Given the description of an element on the screen output the (x, y) to click on. 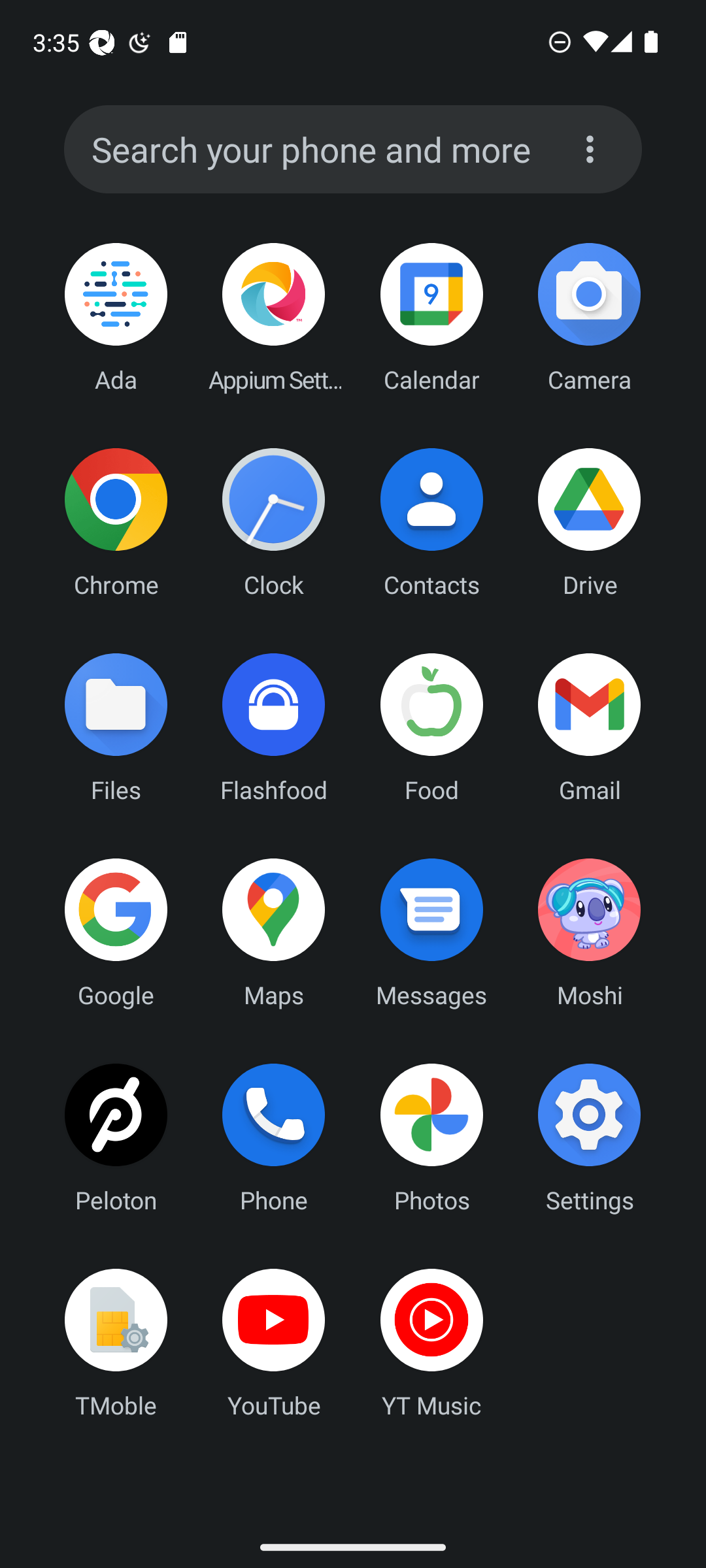
Search your phone and more (318, 149)
Preferences (589, 149)
Ada (115, 317)
Appium Settings (273, 317)
Calendar (431, 317)
Camera (589, 317)
Chrome (115, 522)
Clock (273, 522)
Contacts (431, 522)
Drive (589, 522)
Files (115, 726)
Flashfood (273, 726)
Food (431, 726)
Gmail (589, 726)
Google (115, 931)
Maps (273, 931)
Messages (431, 931)
Moshi (589, 931)
Peloton (115, 1137)
Phone (273, 1137)
Photos (431, 1137)
Settings (589, 1137)
TMoble (115, 1342)
YouTube (273, 1342)
YT Music (431, 1342)
